Given the description of an element on the screen output the (x, y) to click on. 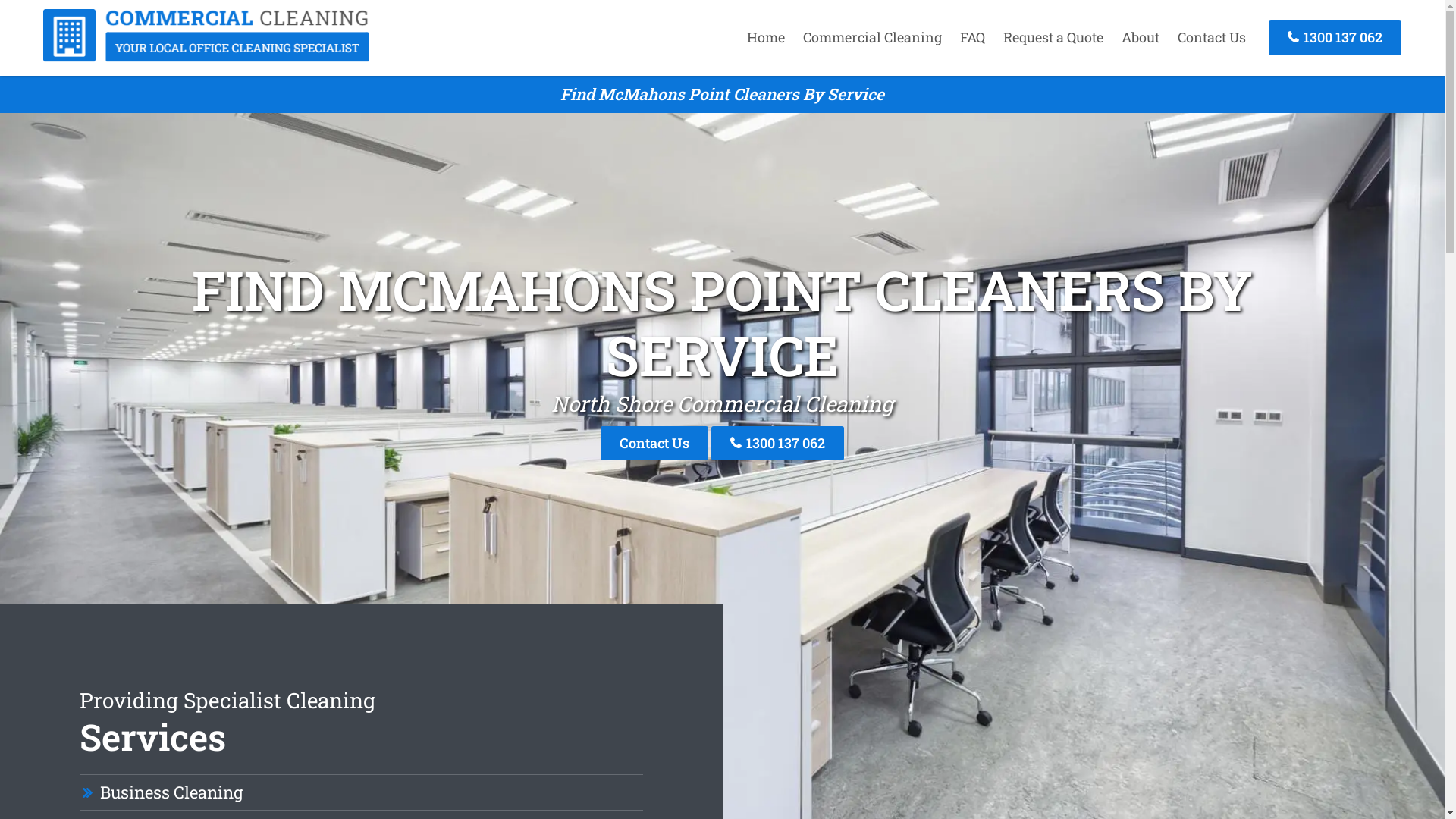
Commercial Cleaning Element type: text (872, 37)
FAQ Element type: text (972, 37)
Business Cleaning Element type: text (171, 792)
Contact Us Element type: text (654, 443)
Commercial Cleaning Element type: hover (206, 56)
1300 137 062 Element type: text (1334, 37)
Home Element type: text (765, 37)
About Element type: text (1140, 37)
Request a Quote Element type: text (1052, 37)
1300 137 062 Element type: text (777, 443)
Contact Us Element type: text (1211, 37)
